Given the description of an element on the screen output the (x, y) to click on. 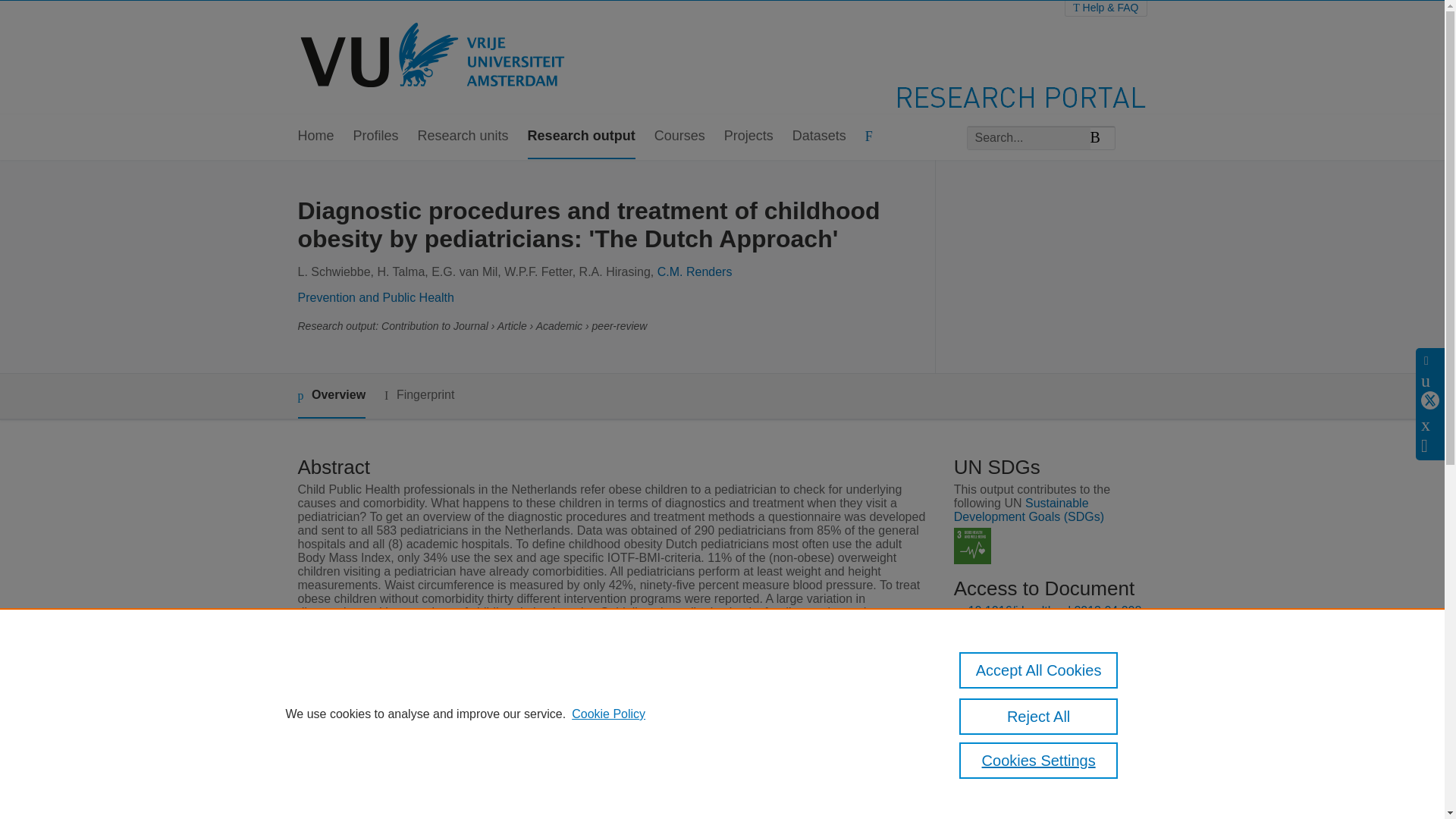
Health Policy (546, 698)
Fingerprint (419, 394)
Research units (462, 136)
C.M. Renders (695, 271)
Prevention and Public Health (374, 297)
Vrije Universiteit Amsterdam Home (433, 57)
Projects (748, 136)
Copy link address (1016, 694)
Courses (678, 136)
Overview (331, 395)
